Given the description of an element on the screen output the (x, y) to click on. 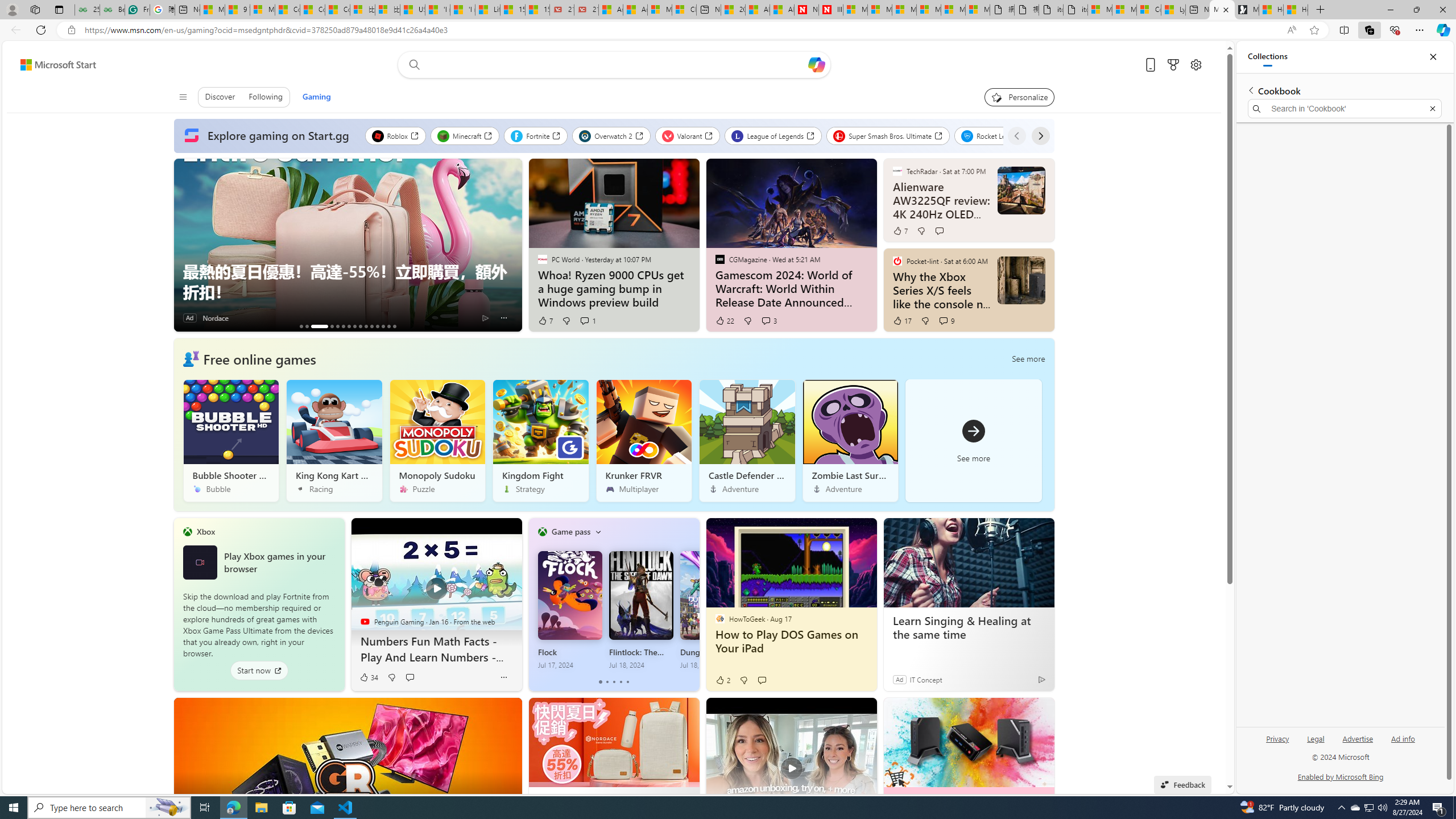
Game pass (570, 531)
Ad info (1402, 738)
Advertise (1357, 738)
Free AI Writing Assistance for Students | Grammarly (136, 9)
How to Use a TV as a Computer Monitor (1295, 9)
Penguin Gaming (364, 621)
Legal (1315, 742)
IT Concept (926, 678)
Hide this story (1019, 711)
